Given the description of an element on the screen output the (x, y) to click on. 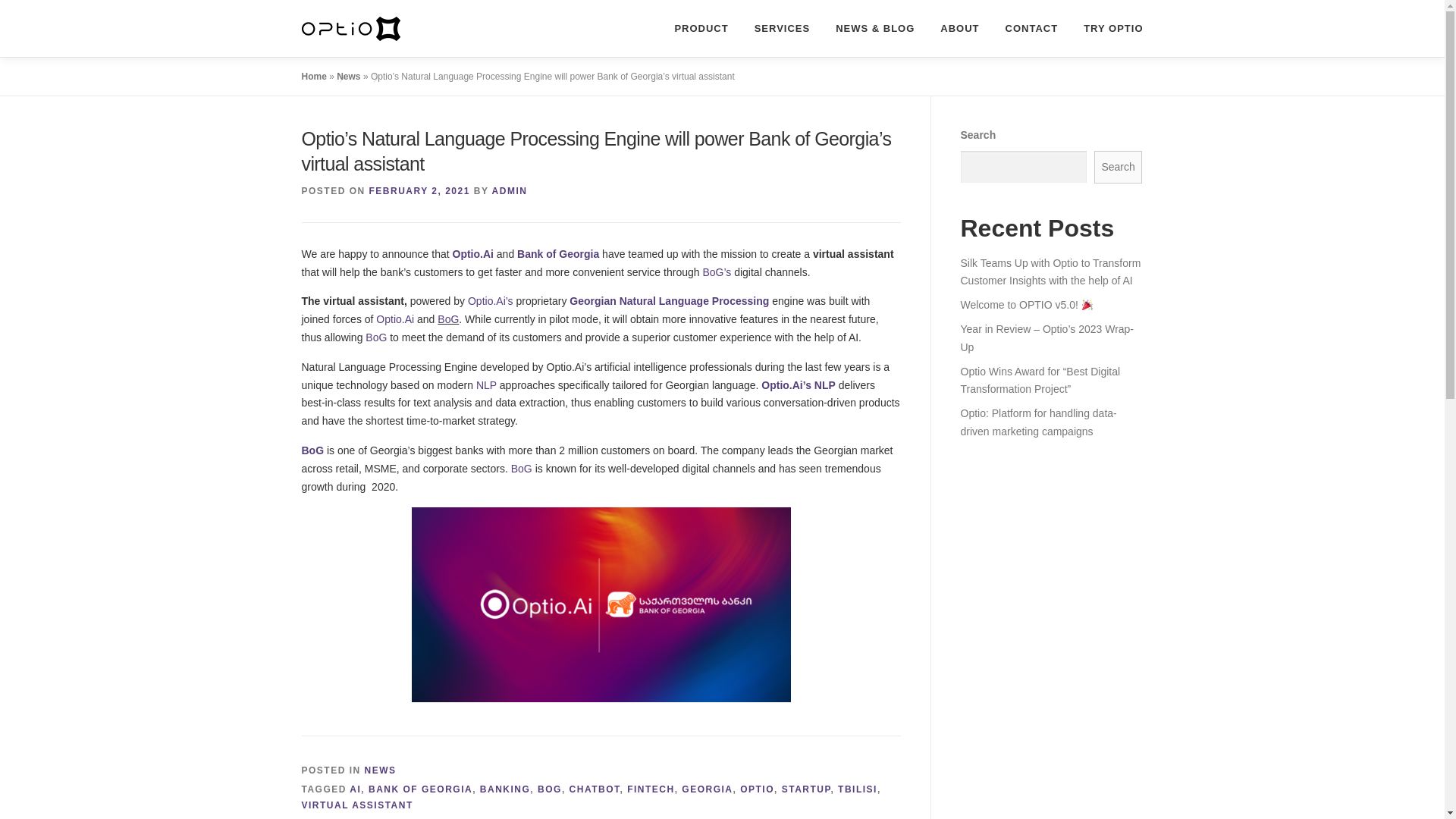
BoG (523, 468)
News (347, 76)
BANKING (505, 788)
PRODUCT (701, 28)
ADMIN (509, 190)
GEORGIA (706, 788)
SERVICES (782, 28)
NLP (486, 385)
STARTUP (806, 788)
BoG (376, 337)
